Given the description of an element on the screen output the (x, y) to click on. 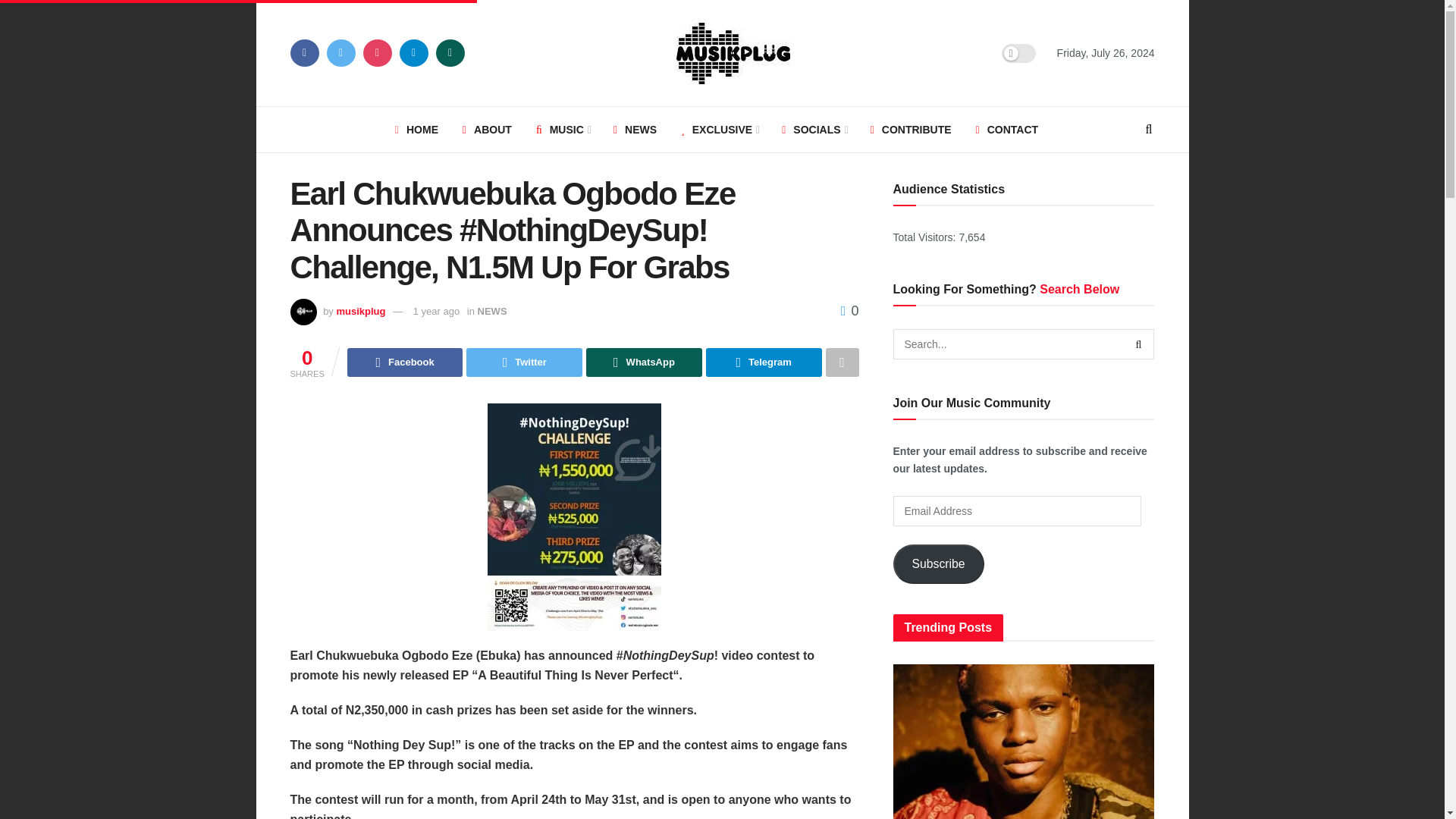
NEWS (634, 129)
EXCLUSIVE (719, 129)
HOME (415, 129)
ABOUT (486, 129)
MUSIC (562, 129)
SOCIALS (813, 129)
CONTACT (1007, 129)
CONTRIBUTE (911, 129)
